Given the description of an element on the screen output the (x, y) to click on. 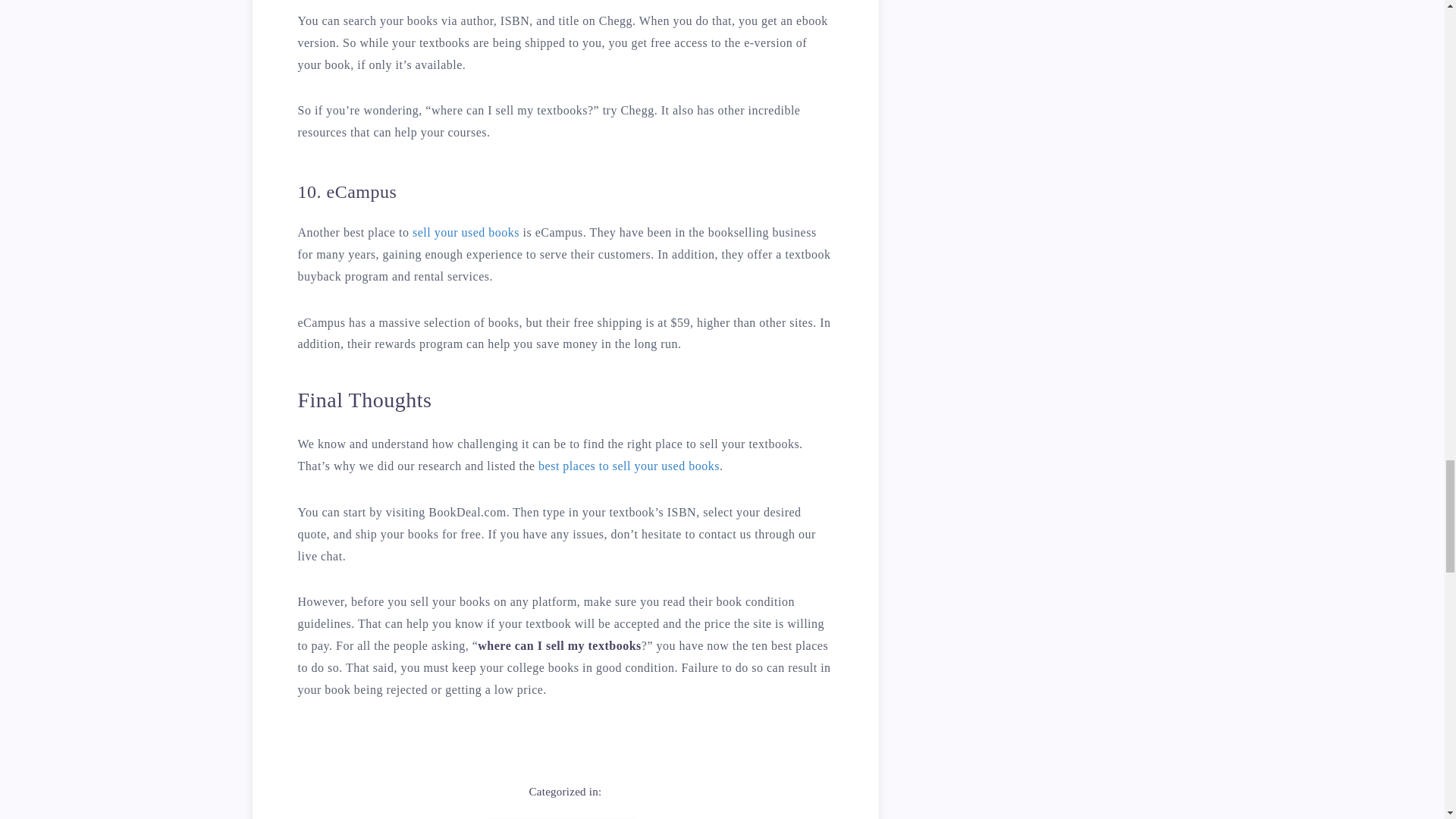
sell your used books (465, 232)
best places to sell your used books (628, 465)
